Given the description of an element on the screen output the (x, y) to click on. 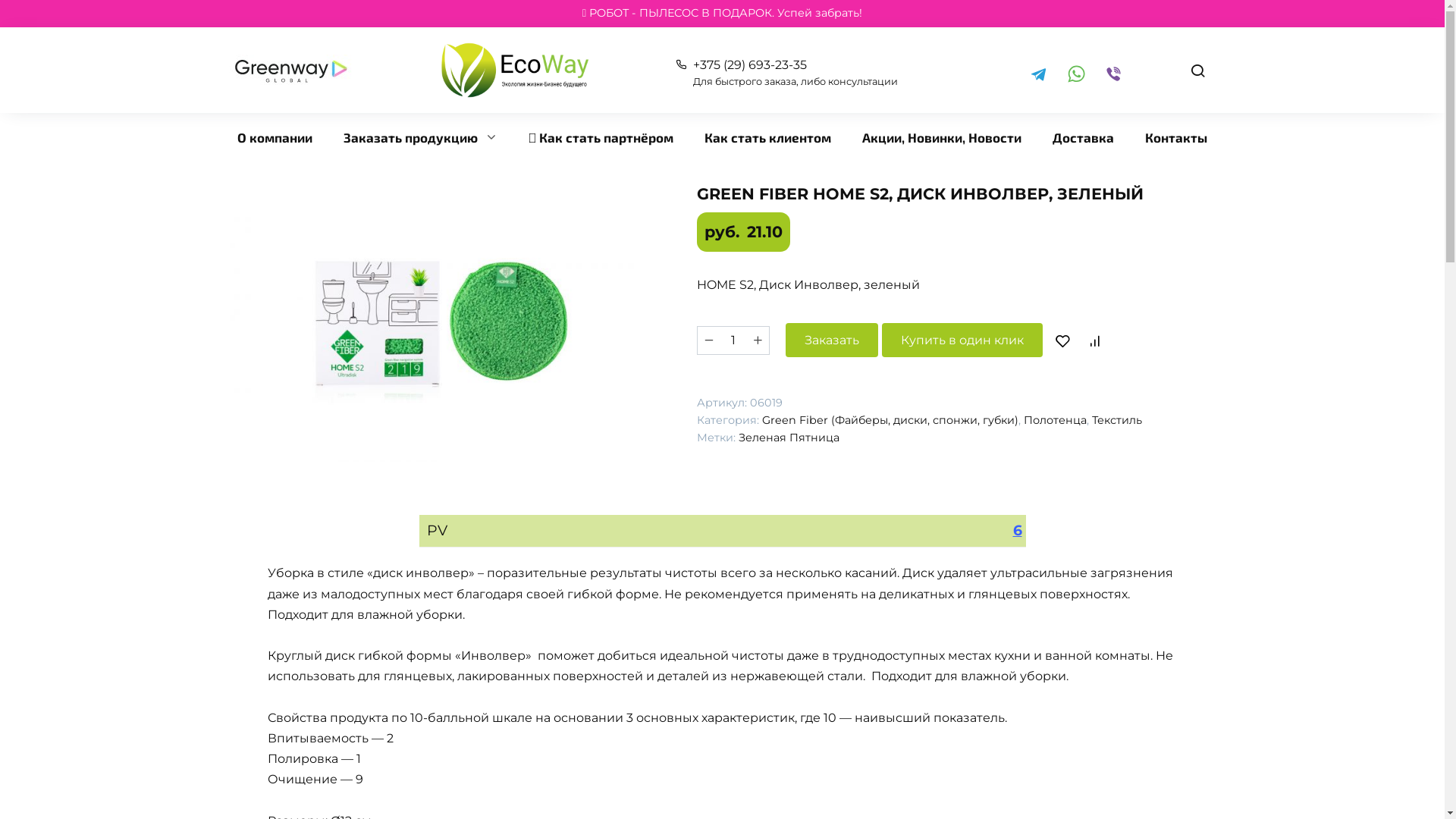
IMG_001dd6 Element type: hover (436, 323)
6 Element type: text (1017, 530)
